Given the description of an element on the screen output the (x, y) to click on. 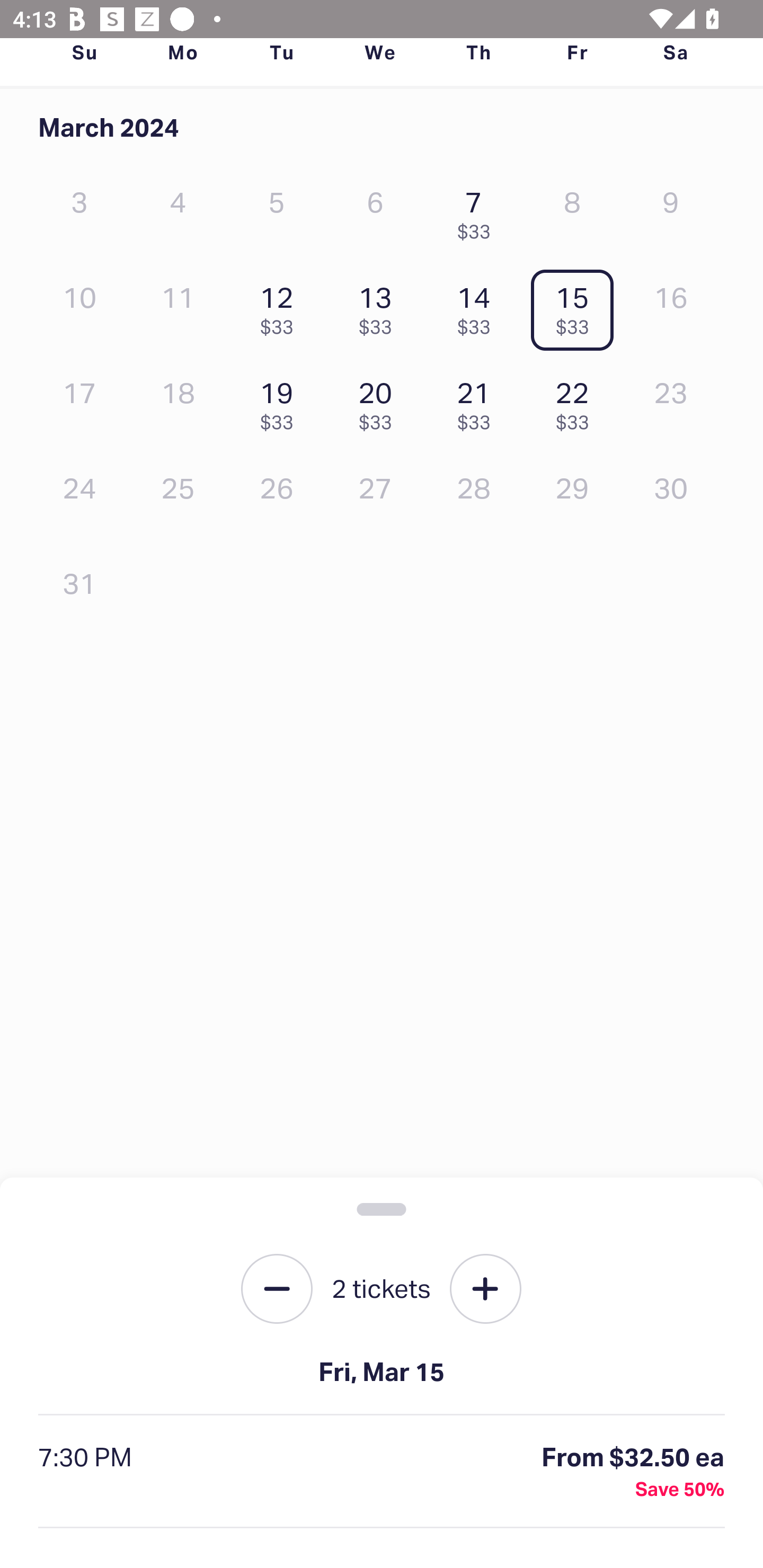
7 $33 (478, 210)
12 $33 (281, 306)
13 $33 (379, 306)
14 $33 (478, 306)
15 $33 (577, 306)
19 $33 (281, 401)
20 $33 (379, 401)
21 $33 (478, 401)
22 $33 (577, 401)
7:30 PM From $32.50 ea Save 50% (381, 1471)
